Given the description of an element on the screen output the (x, y) to click on. 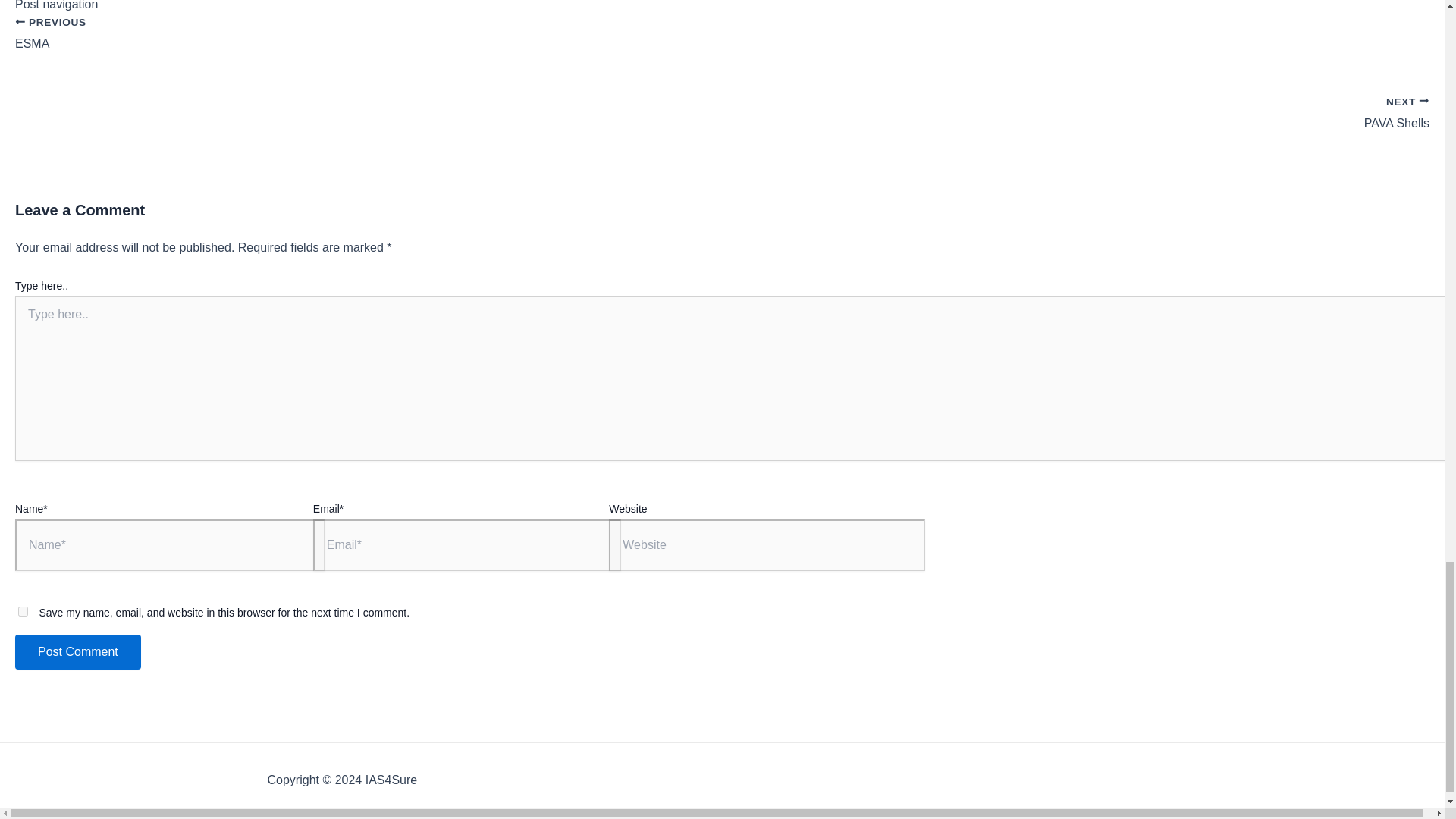
yes (22, 611)
ESMA (721, 42)
Post Comment (77, 651)
PAVA Shells (721, 42)
